Given the description of an element on the screen output the (x, y) to click on. 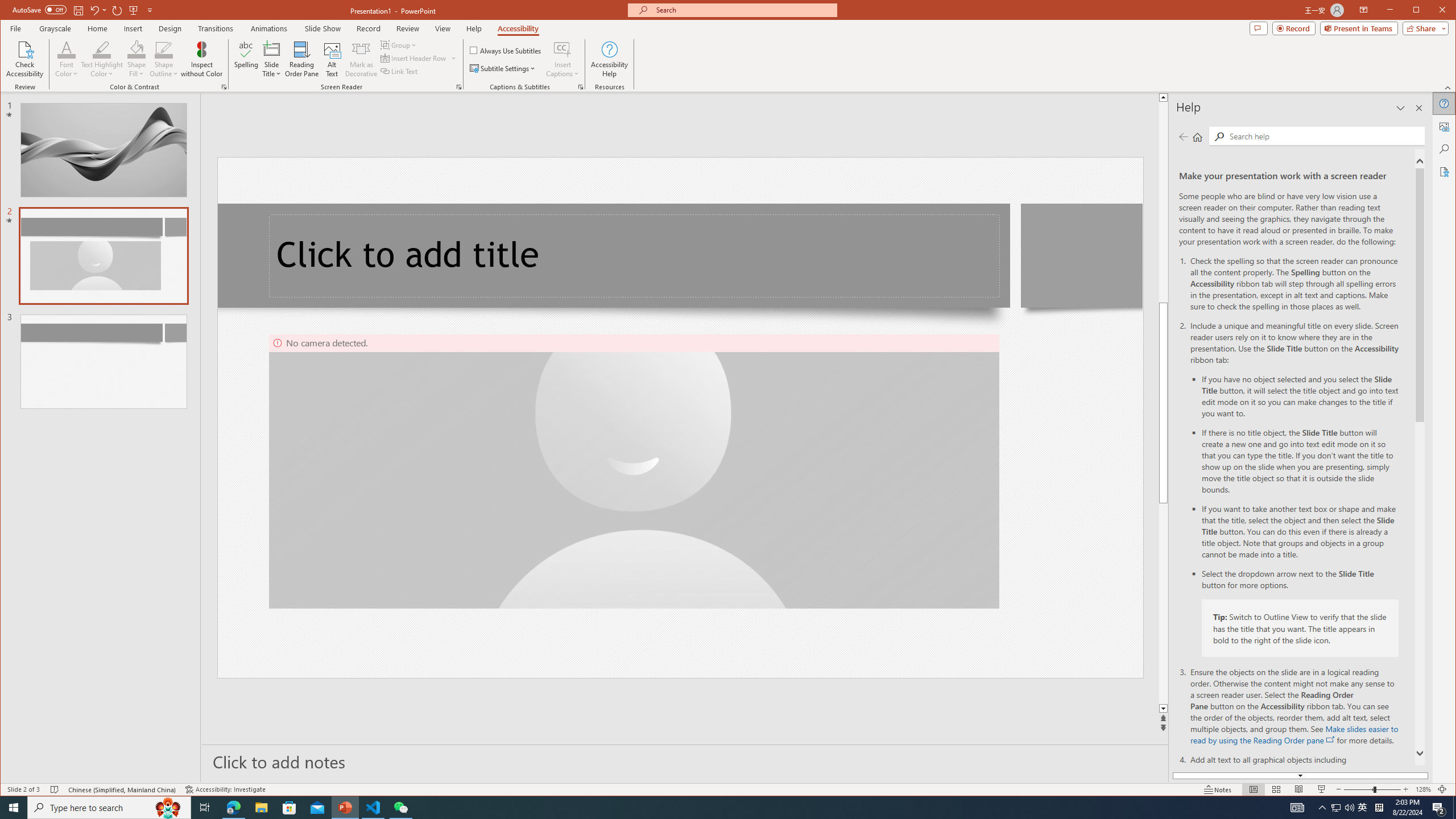
Zoom 128% (1422, 789)
Mark as Decorative (360, 59)
Running applications (707, 807)
Page up (1162, 201)
